Given the description of an element on the screen output the (x, y) to click on. 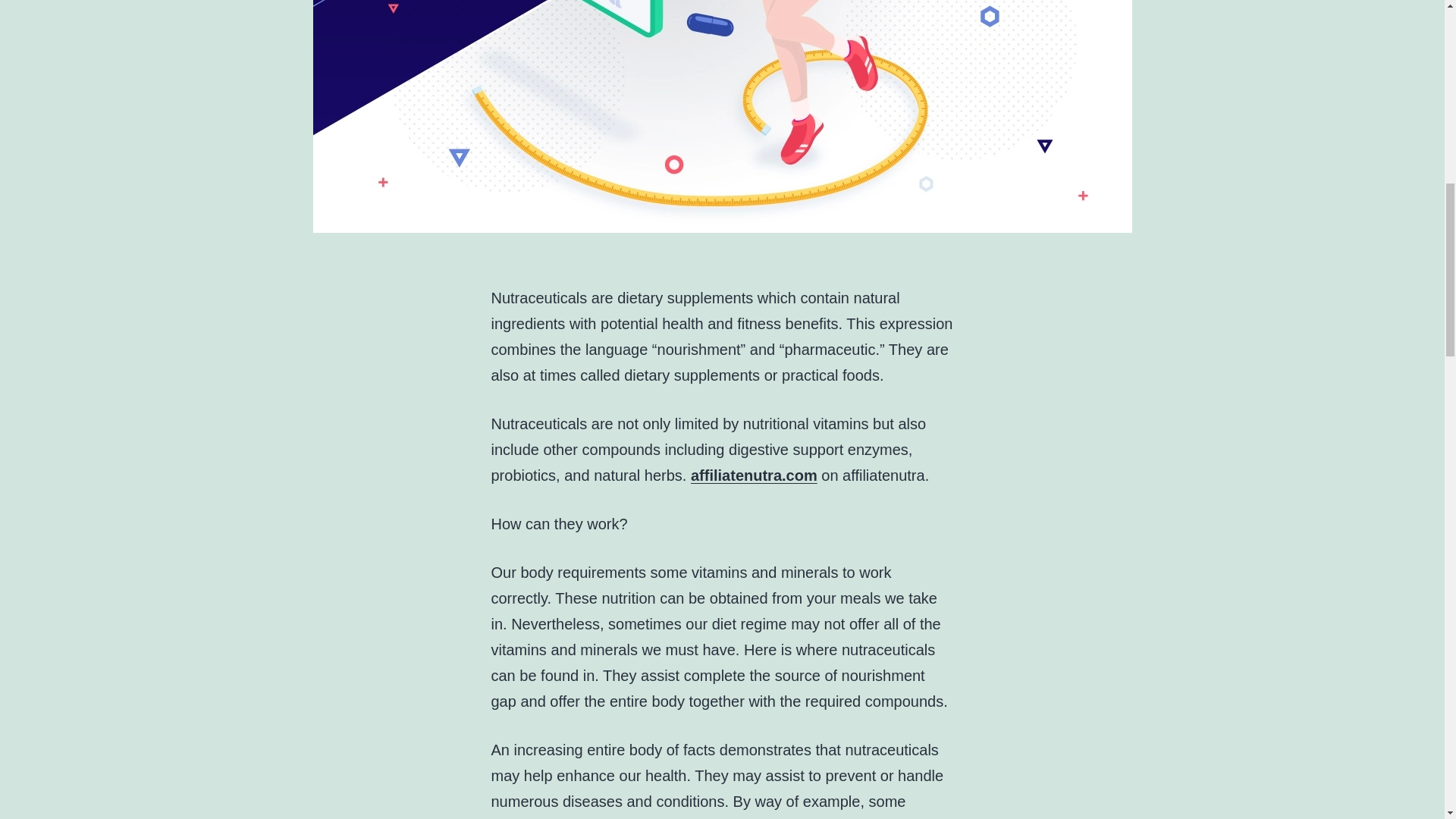
affiliatenutra.com (753, 475)
